Given the description of an element on the screen output the (x, y) to click on. 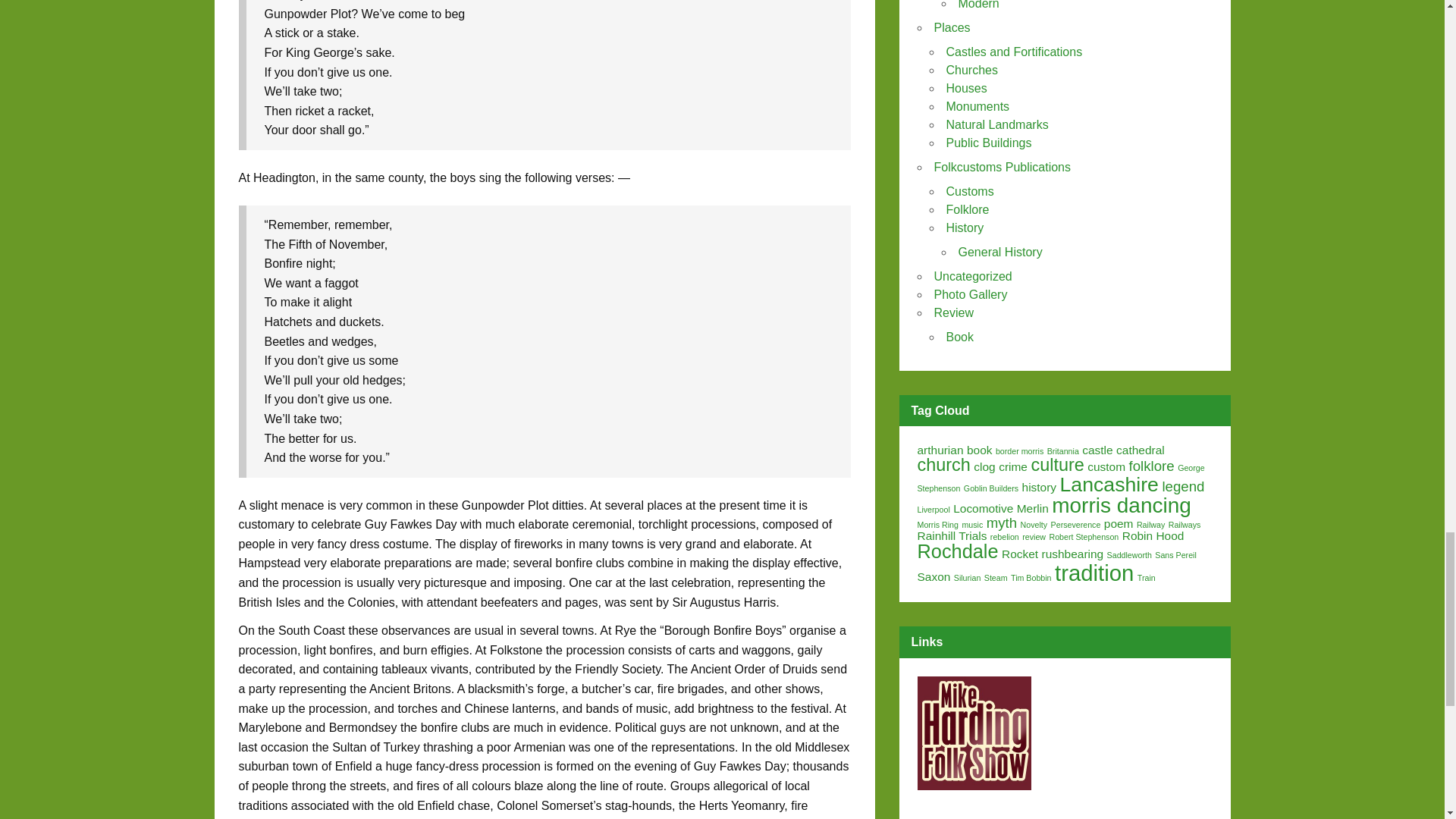
Media published by this site (1002, 166)
